Given the description of an element on the screen output the (x, y) to click on. 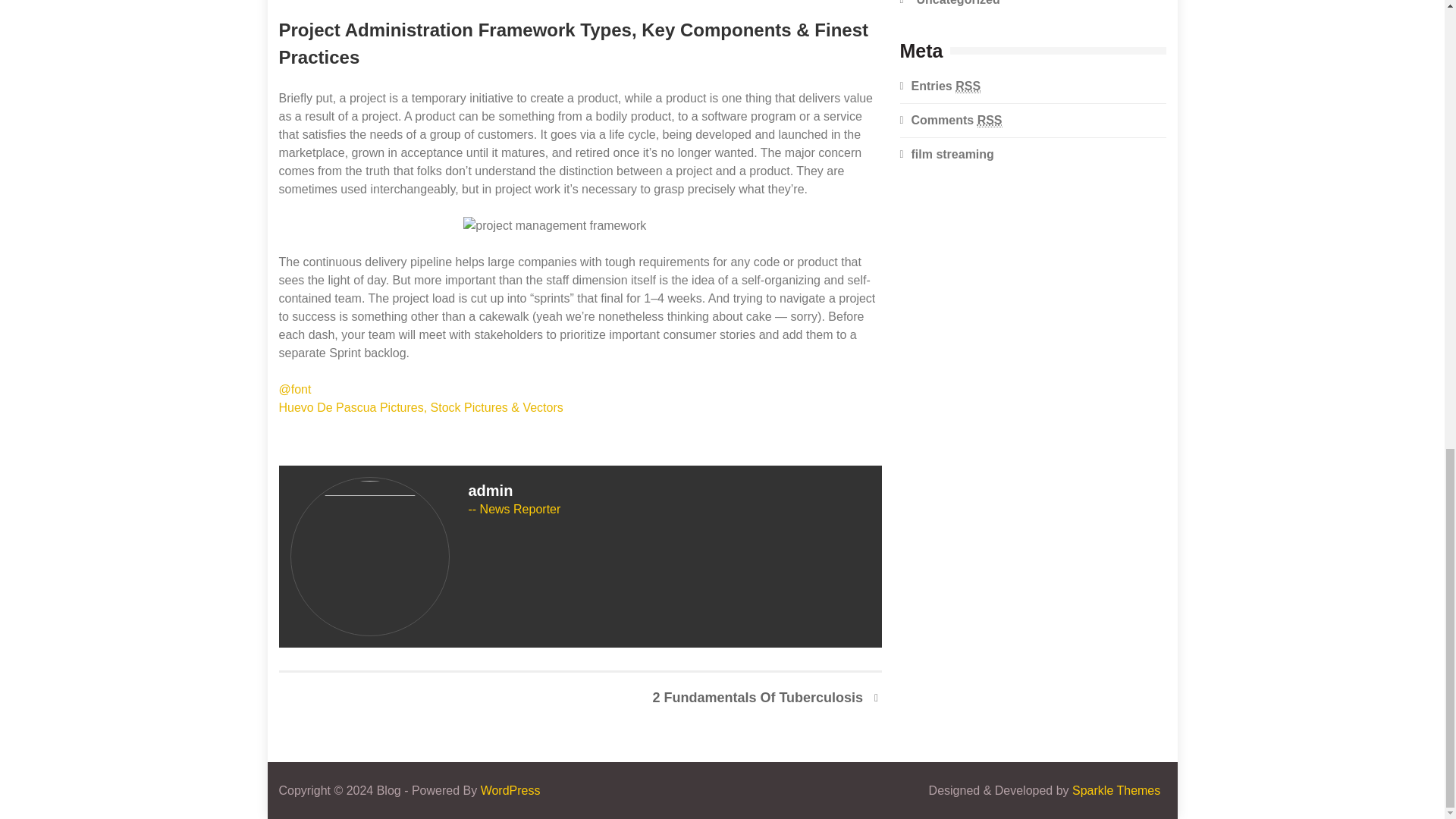
Really Simple Syndication (989, 119)
Posts by admin (490, 490)
Really Simple Syndication (967, 86)
